Given the description of an element on the screen output the (x, y) to click on. 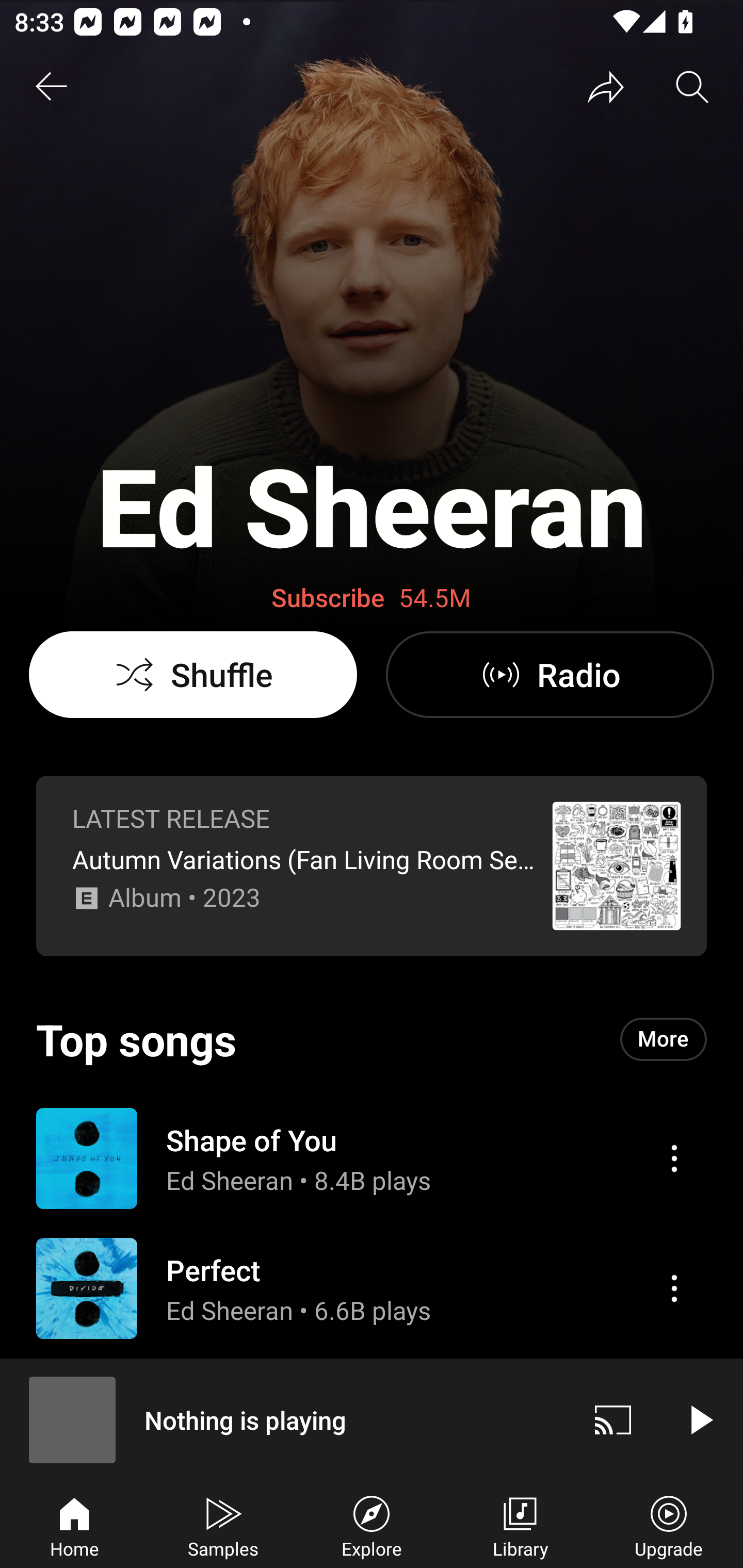
Back (50, 86)
Share (605, 86)
Search (692, 86)
Subscribe 54.5M (371, 598)
Shuffle (192, 674)
Radio (549, 674)
Action menu (371, 1157)
Action menu (673, 1158)
Action menu (371, 1288)
Action menu (673, 1288)
Action menu (371, 1417)
Cast. Disconnected (612, 1419)
Play video (699, 1419)
Home (74, 1524)
Samples (222, 1524)
Explore (371, 1524)
Library (519, 1524)
Upgrade (668, 1524)
